Given the description of an element on the screen output the (x, y) to click on. 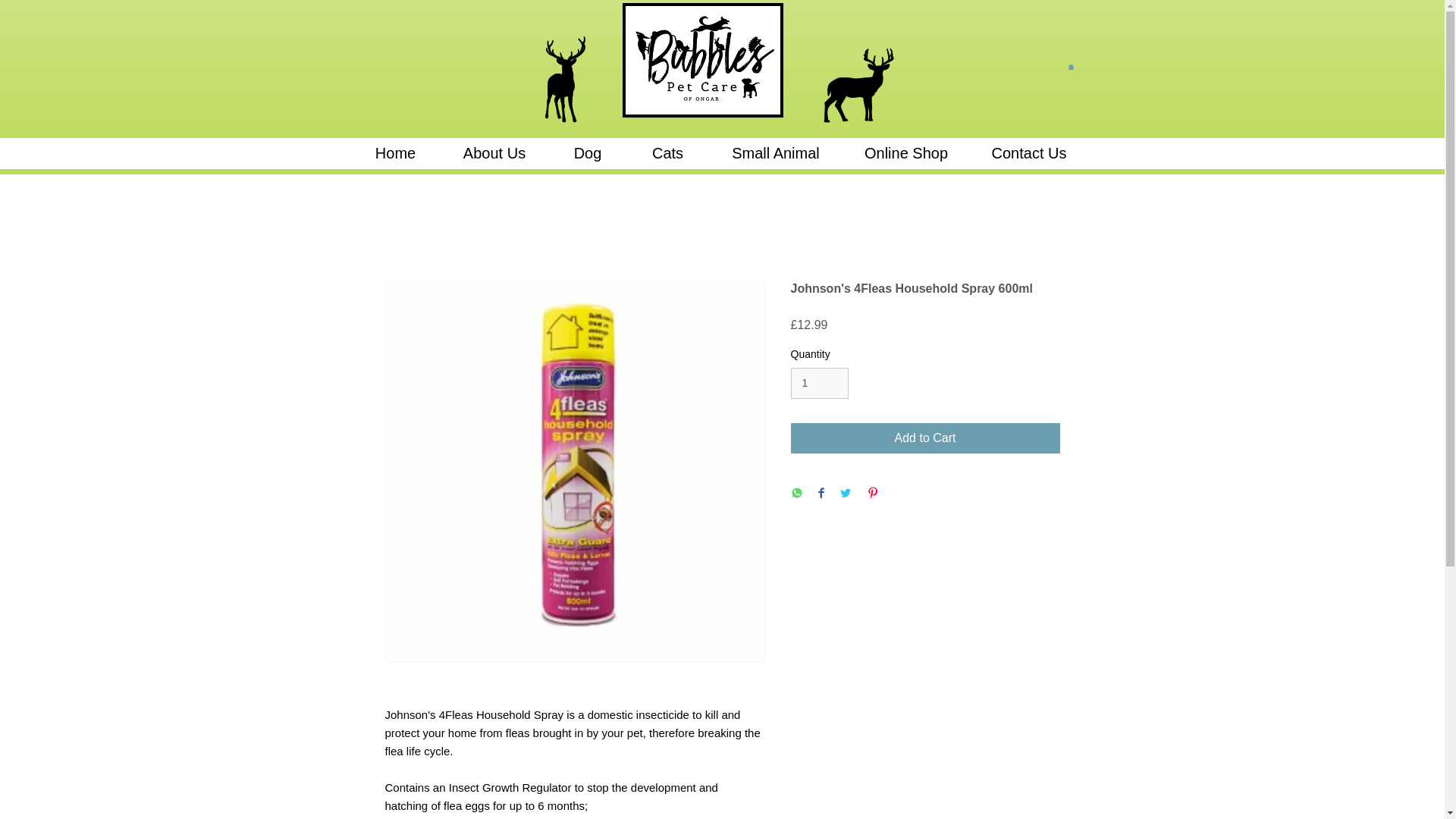
Online Shop (906, 153)
1 (818, 382)
Cats (666, 153)
About Us (493, 153)
Home (394, 153)
Contact Us (1028, 153)
Add to Cart (924, 438)
Dog (587, 153)
Small Animal (775, 153)
